Given the description of an element on the screen output the (x, y) to click on. 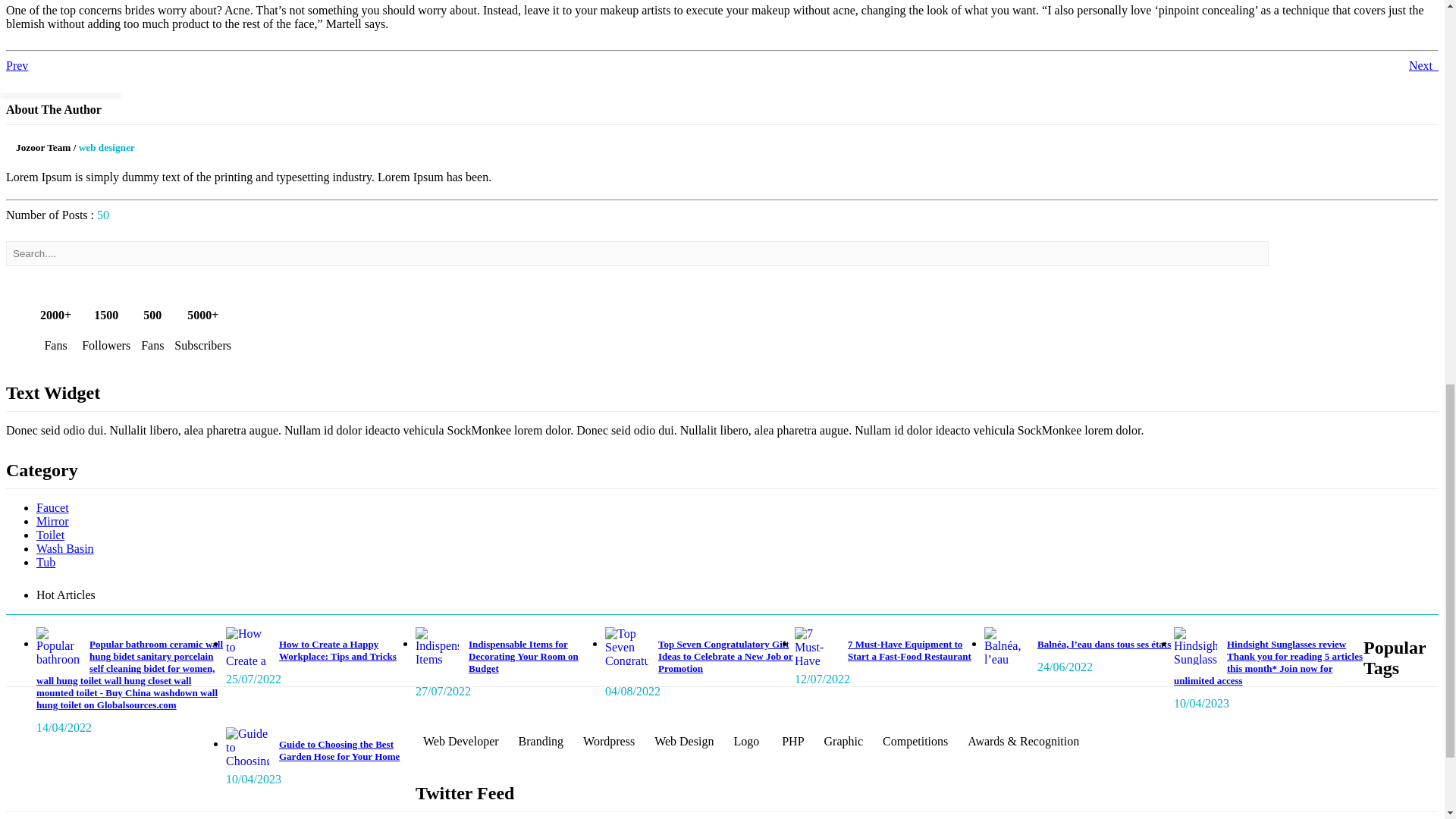
Prev (16, 65)
Tub (45, 562)
Toilet (50, 534)
Indispensable Items for Decorating Your Room on Budget (523, 656)
Toilet (50, 534)
How to Create a Happy Workplace: Tips and Tricks (247, 646)
Wash Basin (65, 548)
Faucet (52, 507)
Mirror (52, 521)
